Given the description of an element on the screen output the (x, y) to click on. 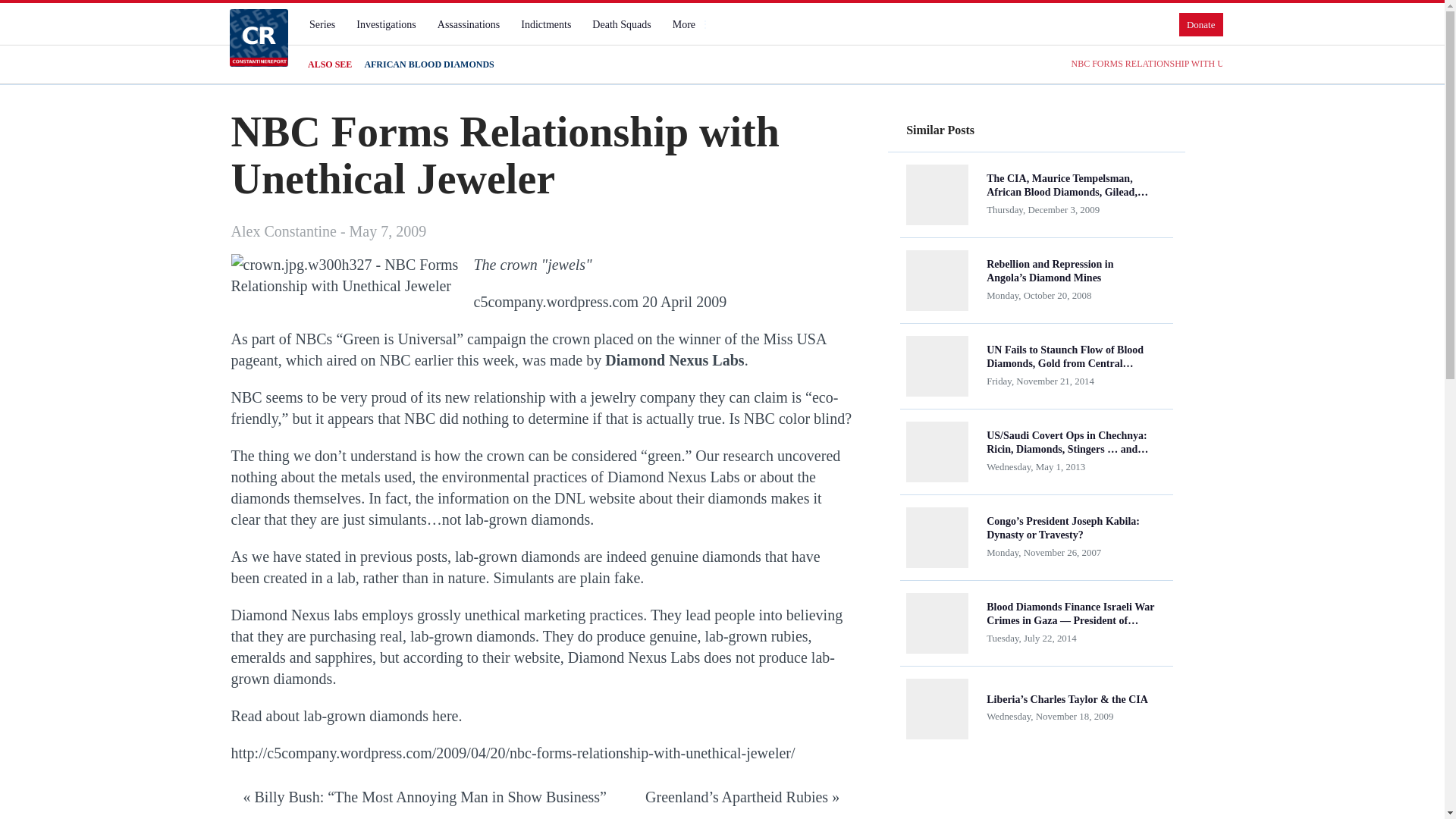
Series (321, 23)
Assassinations (467, 23)
Constantine Report (257, 37)
More (690, 24)
Donate (1201, 24)
AFRICAN BLOOD DIAMONDS (428, 64)
NBC Forms Relationship with Unethical Jeweler (344, 274)
Indictments (545, 23)
Death Squads (621, 23)
Investigations (386, 23)
